Given the description of an element on the screen output the (x, y) to click on. 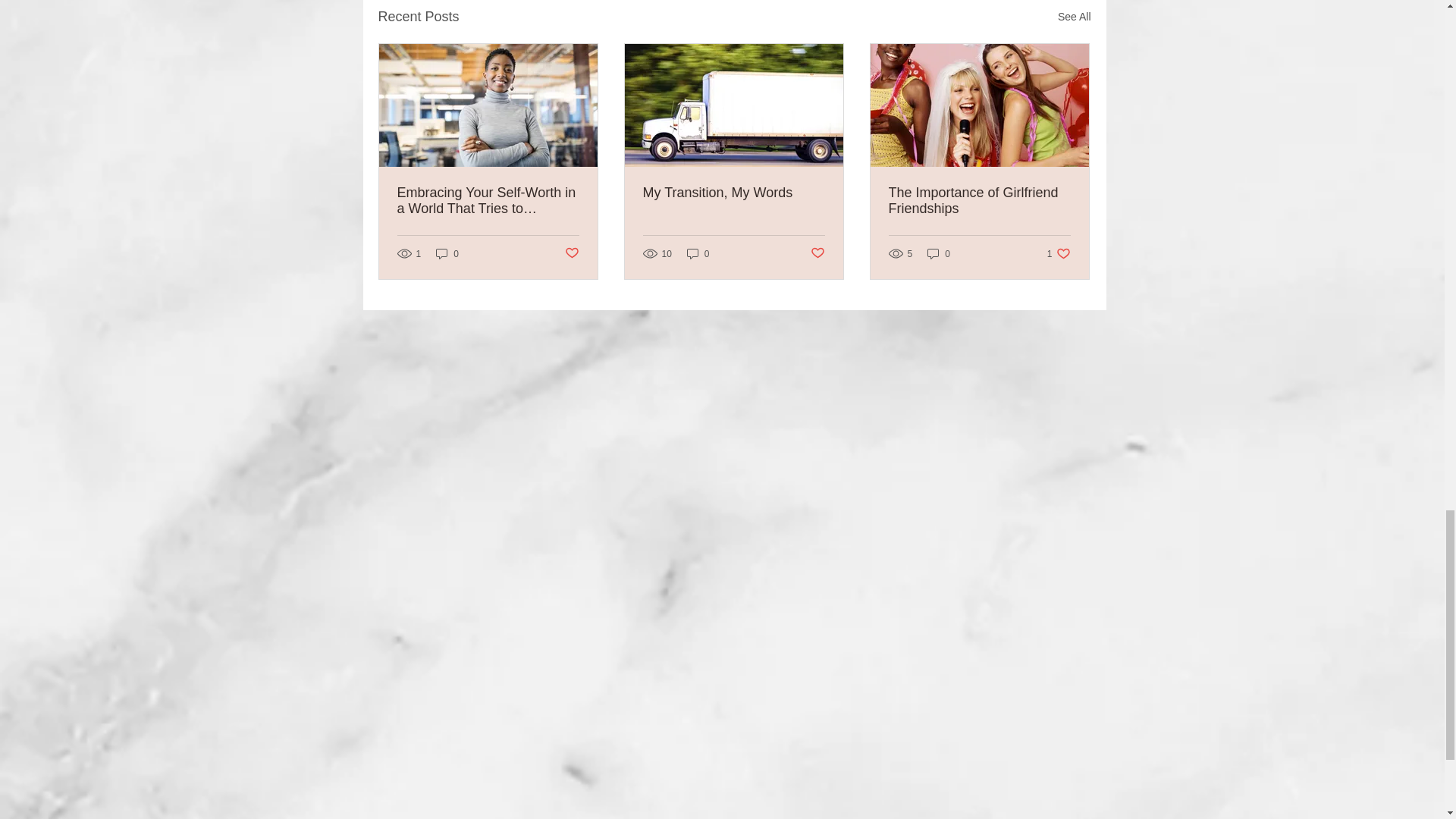
Post not marked as liked (1058, 253)
0 (571, 253)
Post not marked as liked (698, 253)
See All (816, 253)
My Transition, My Words (1074, 16)
The Importance of Girlfriend Friendships (734, 192)
0 (979, 201)
0 (939, 253)
